Given the description of an element on the screen output the (x, y) to click on. 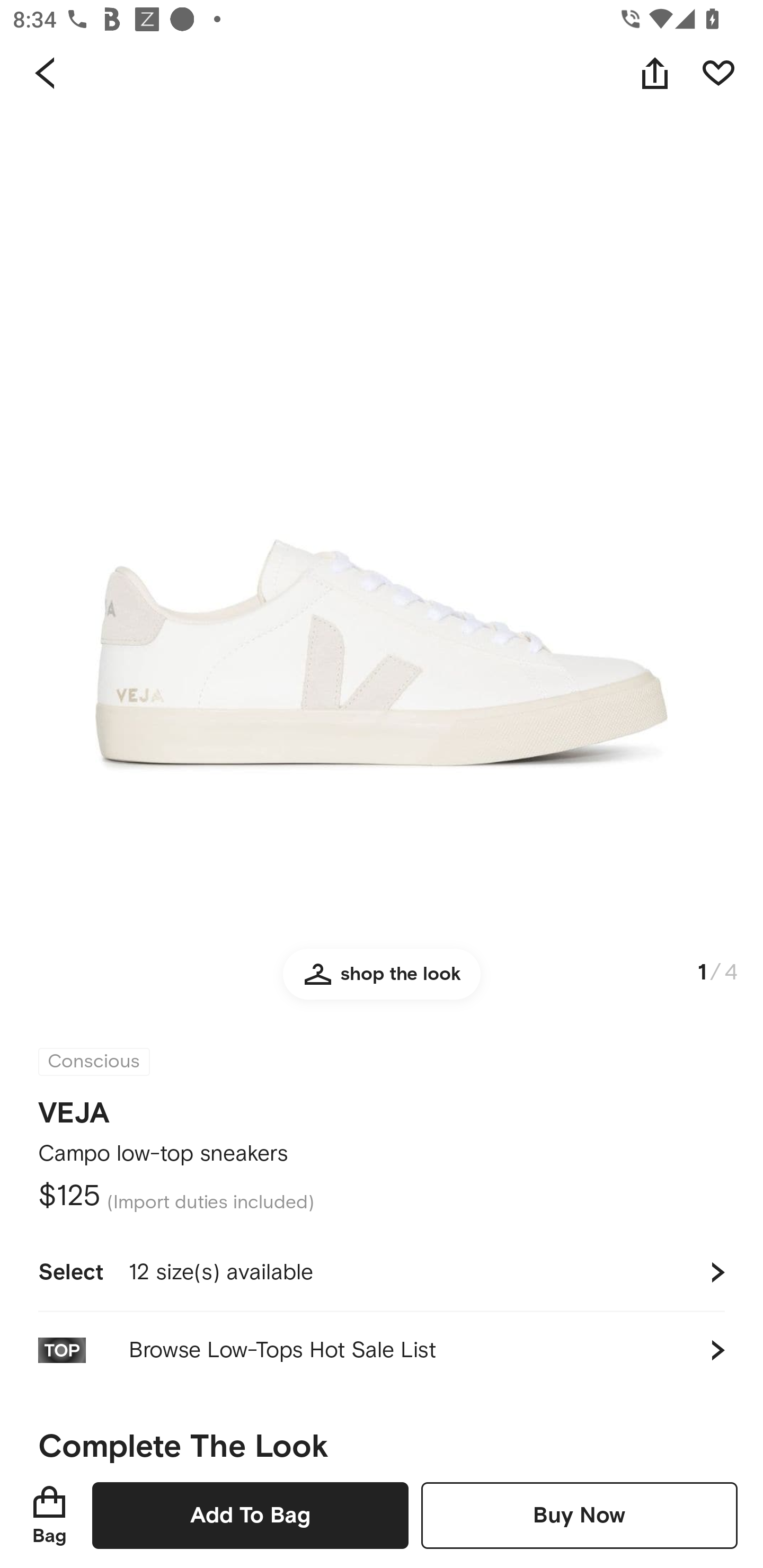
shop the look (381, 982)
VEJA (73, 1113)
Select 12 size(s) available (381, 1272)
Browse Low-Tops Hot Sale List (381, 1349)
Bag (49, 1515)
Add To Bag (250, 1515)
Buy Now (579, 1515)
